Given the description of an element on the screen output the (x, y) to click on. 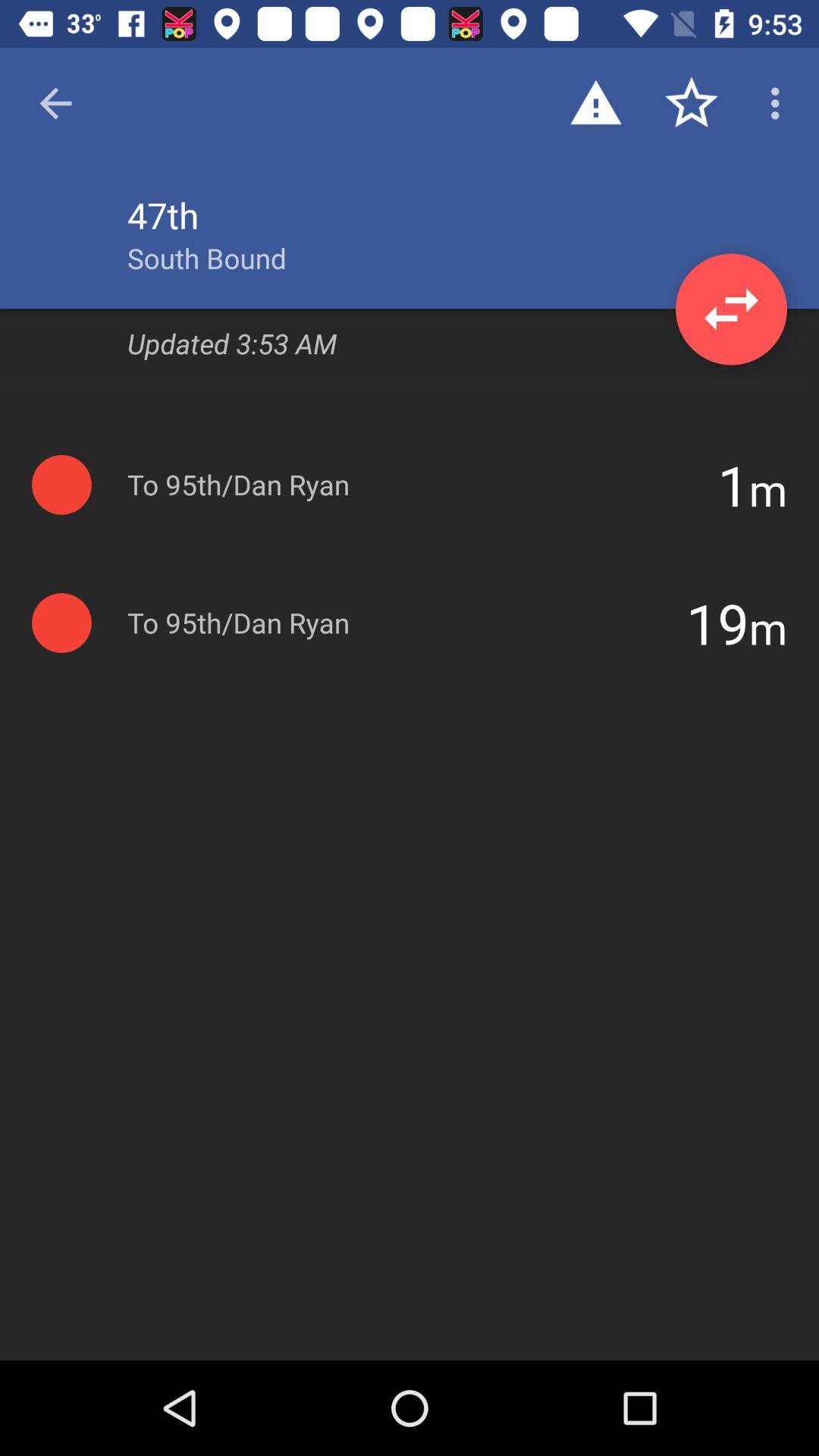
launch item to the left of the m icon (733, 484)
